Given the description of an element on the screen output the (x, y) to click on. 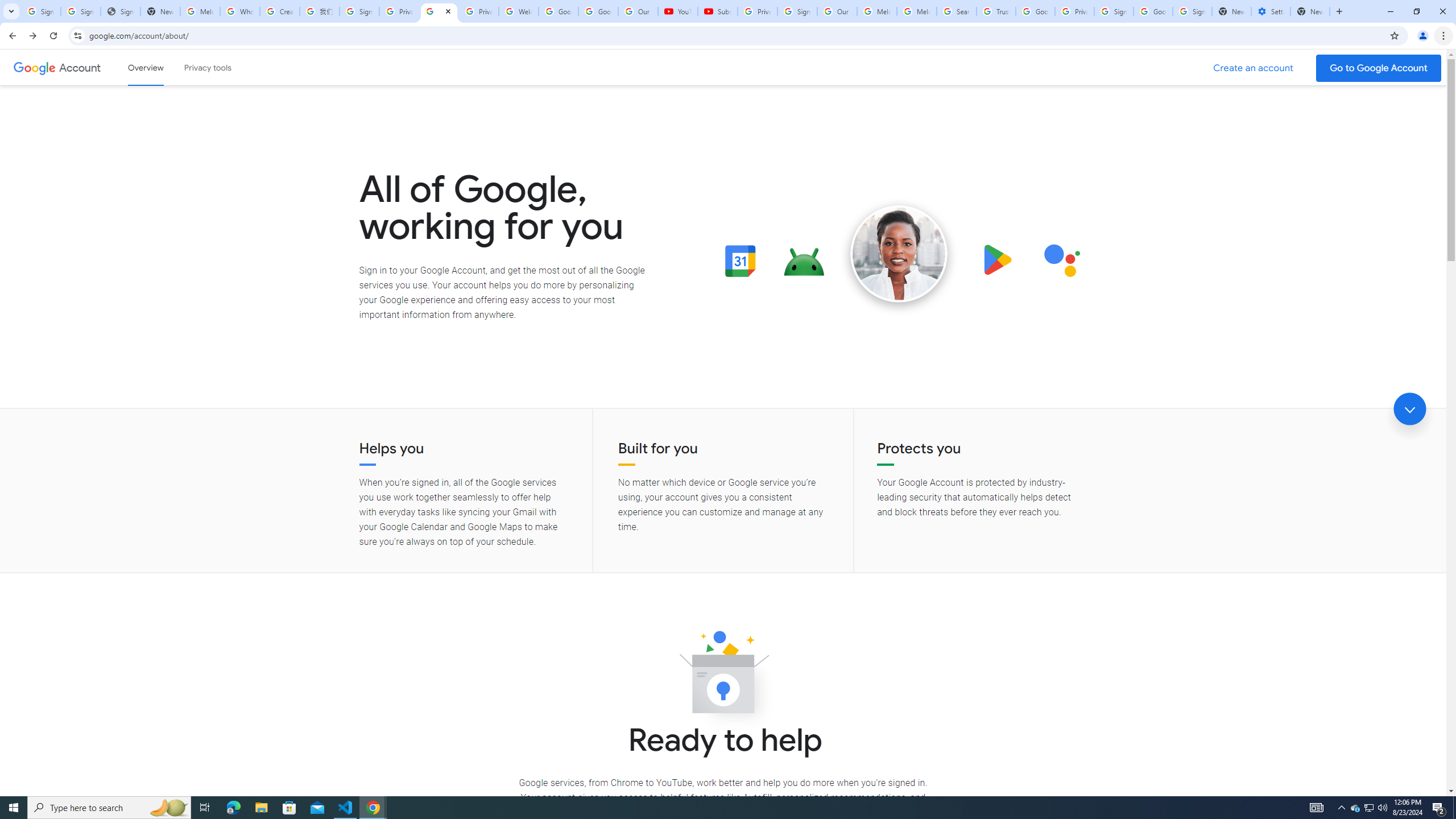
Search our Doodle Library Collection - Google Doodles (956, 11)
Sign in - Google Accounts (359, 11)
Privacy tools (207, 67)
Ready to help (722, 675)
Welcome to My Activity (518, 11)
Sign in - Google Accounts (796, 11)
Create a Google Account (1253, 67)
New Tab (1310, 11)
